Given the description of an element on the screen output the (x, y) to click on. 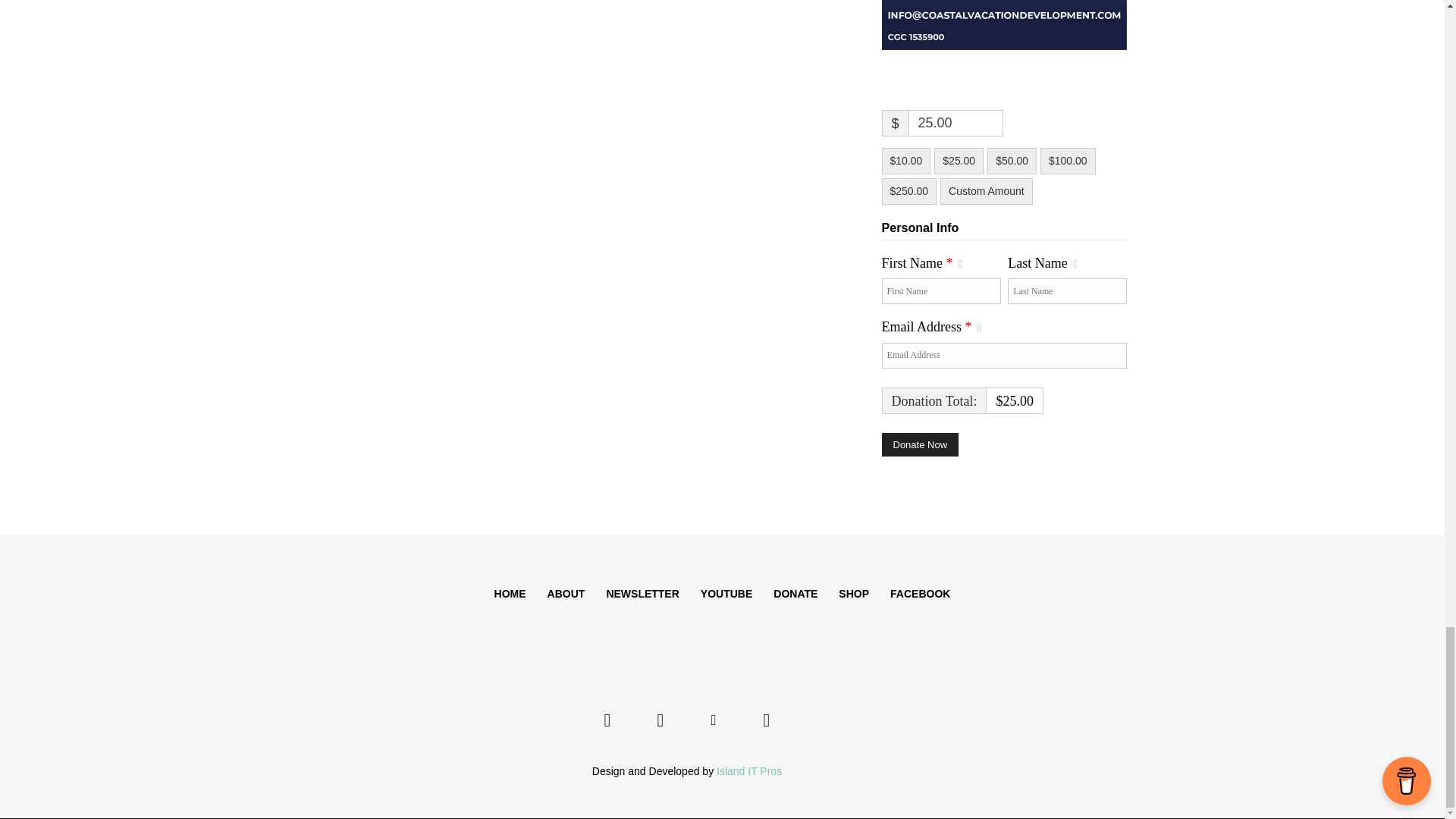
Facebook (607, 719)
25.00 (955, 122)
Instagram (659, 719)
Twitter (713, 719)
Donate Now (919, 445)
Youtube (766, 719)
